Given the description of an element on the screen output the (x, y) to click on. 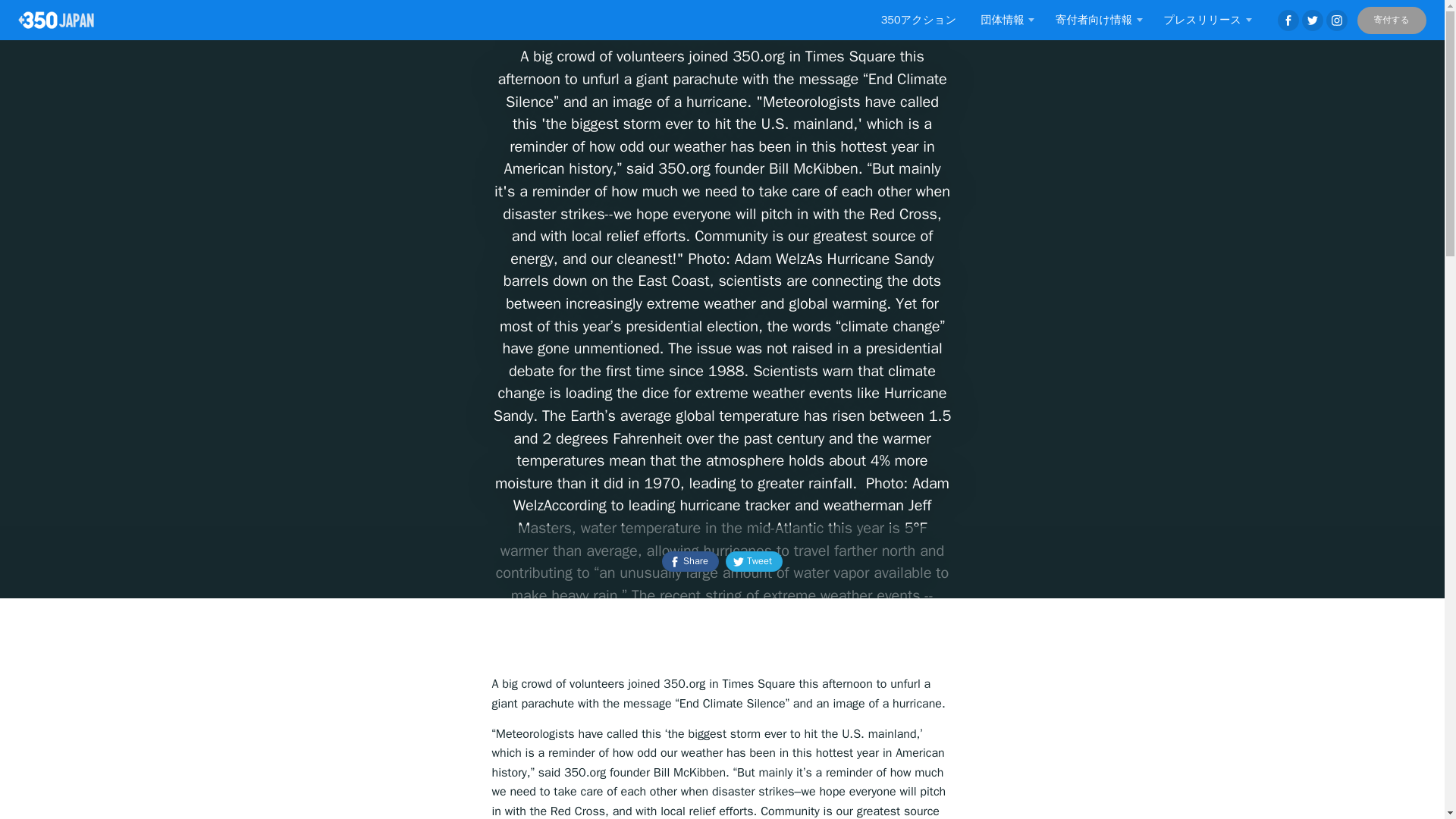
Facebook (1288, 20)
Instagram (1337, 20)
Tweet (753, 561)
Share (689, 561)
Twitter (1312, 20)
